Given the description of an element on the screen output the (x, y) to click on. 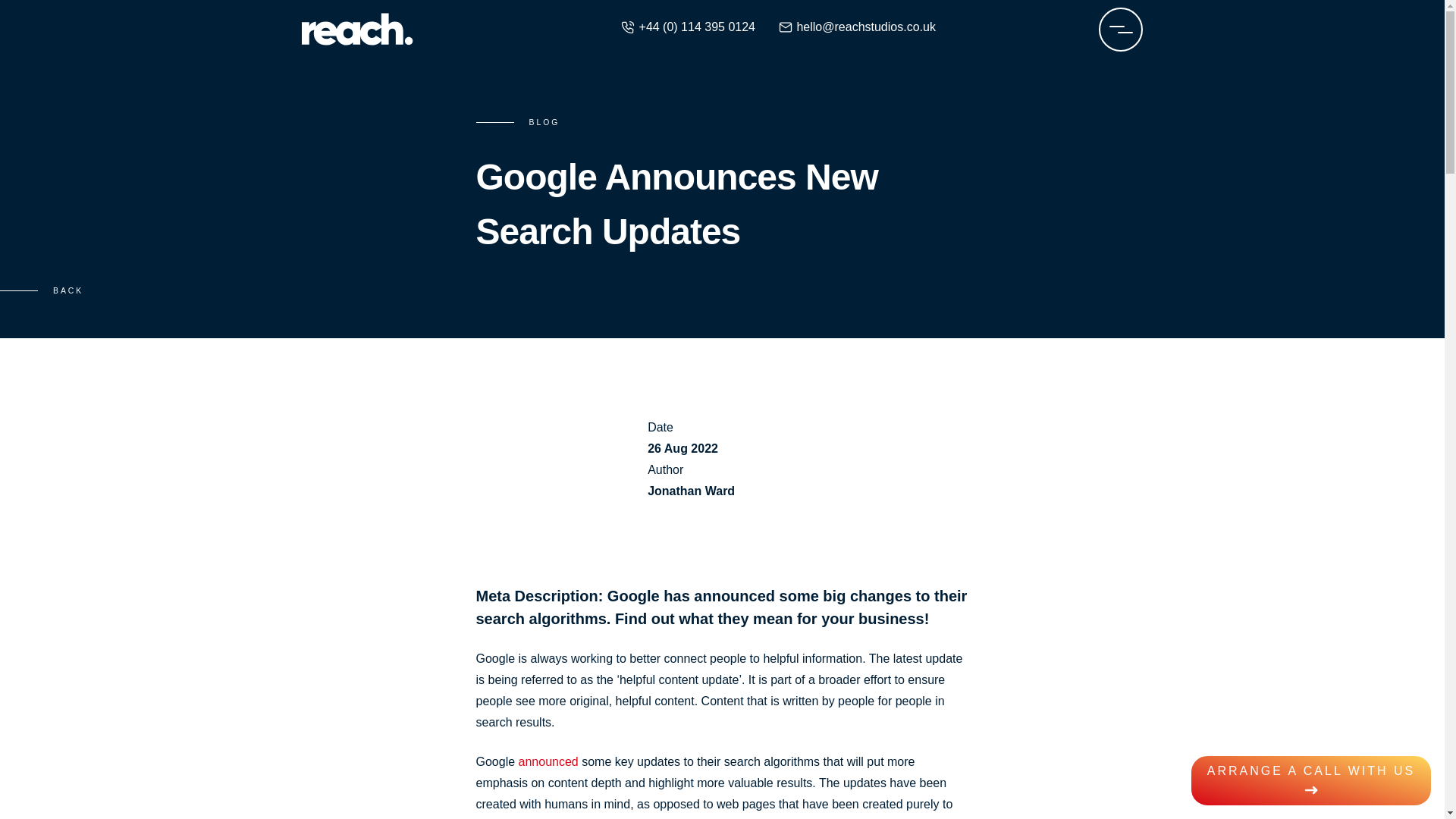
announced (548, 761)
BACK (41, 290)
ARRANGE A CALL WITH US (1311, 779)
